Given the description of an element on the screen output the (x, y) to click on. 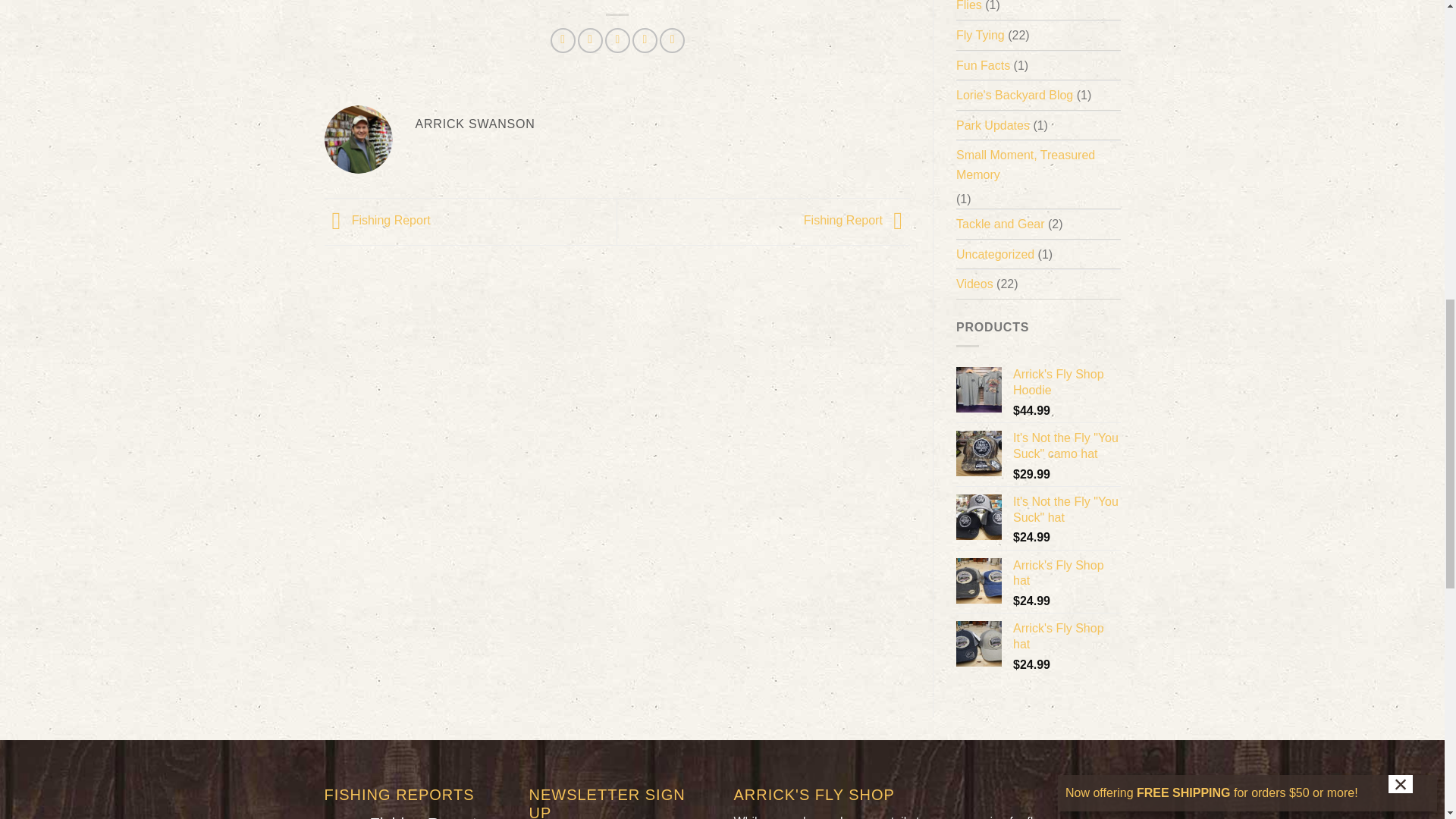
Share on Twitter (590, 40)
Email to a Friend (617, 40)
Pin on Pinterest (644, 40)
Share on Facebook (562, 40)
